Given the description of an element on the screen output the (x, y) to click on. 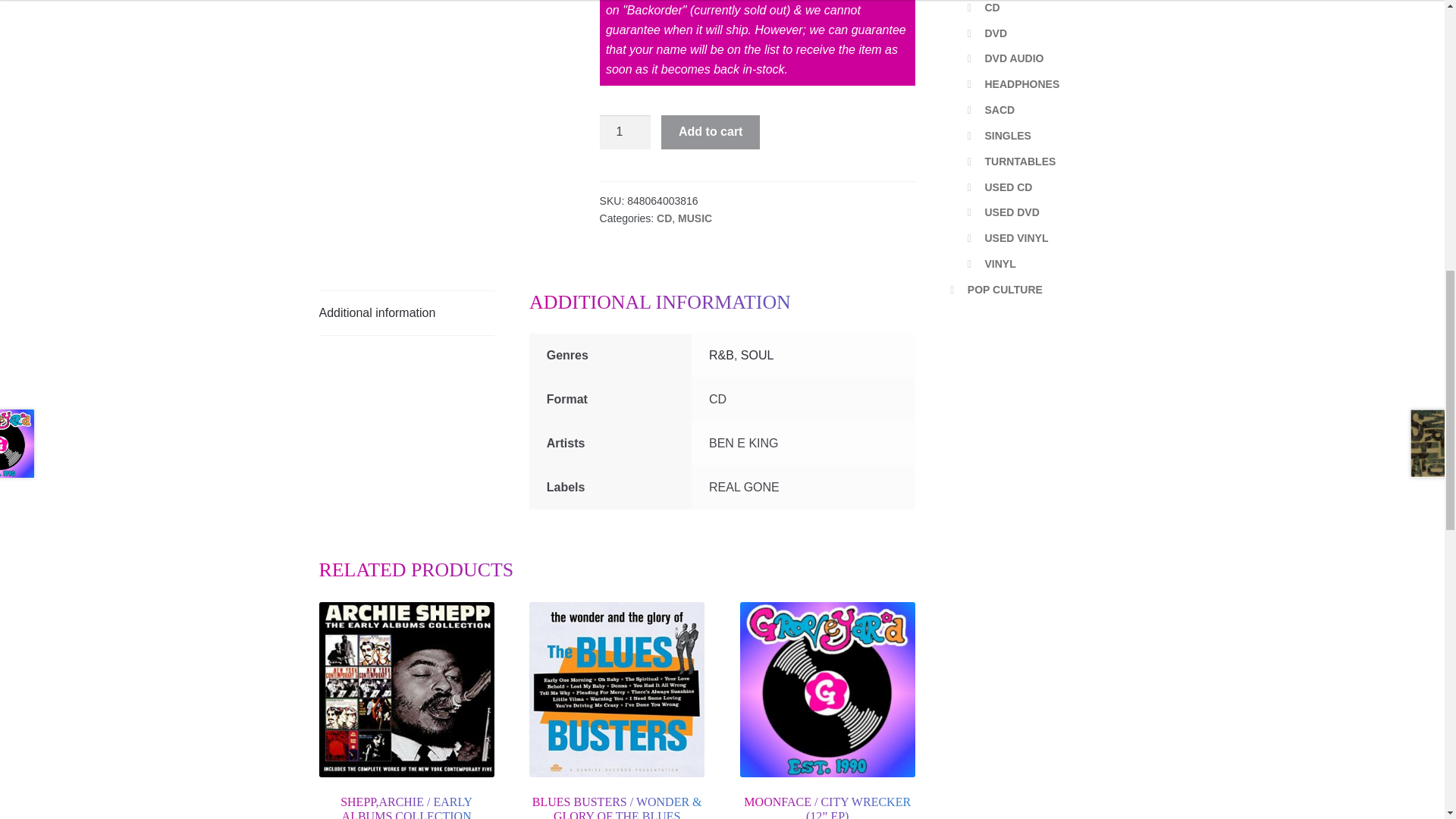
1 (624, 132)
